Given the description of an element on the screen output the (x, y) to click on. 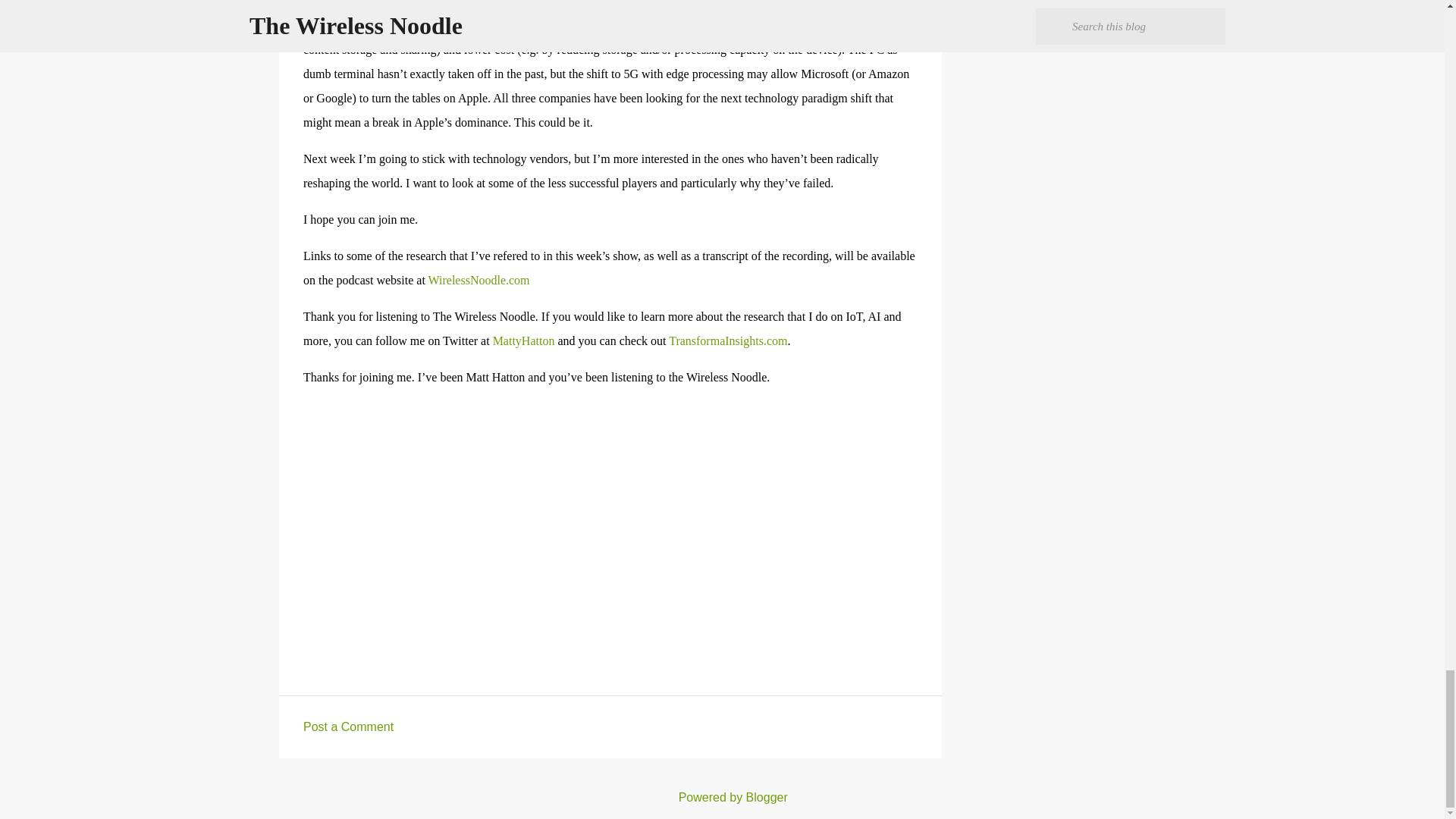
TransformaInsights.com (727, 340)
MattyHatton (523, 340)
Powered by Blogger (721, 797)
Email Post (311, 598)
WirelessNoodle.com (478, 279)
Post a Comment (347, 726)
